Given the description of an element on the screen output the (x, y) to click on. 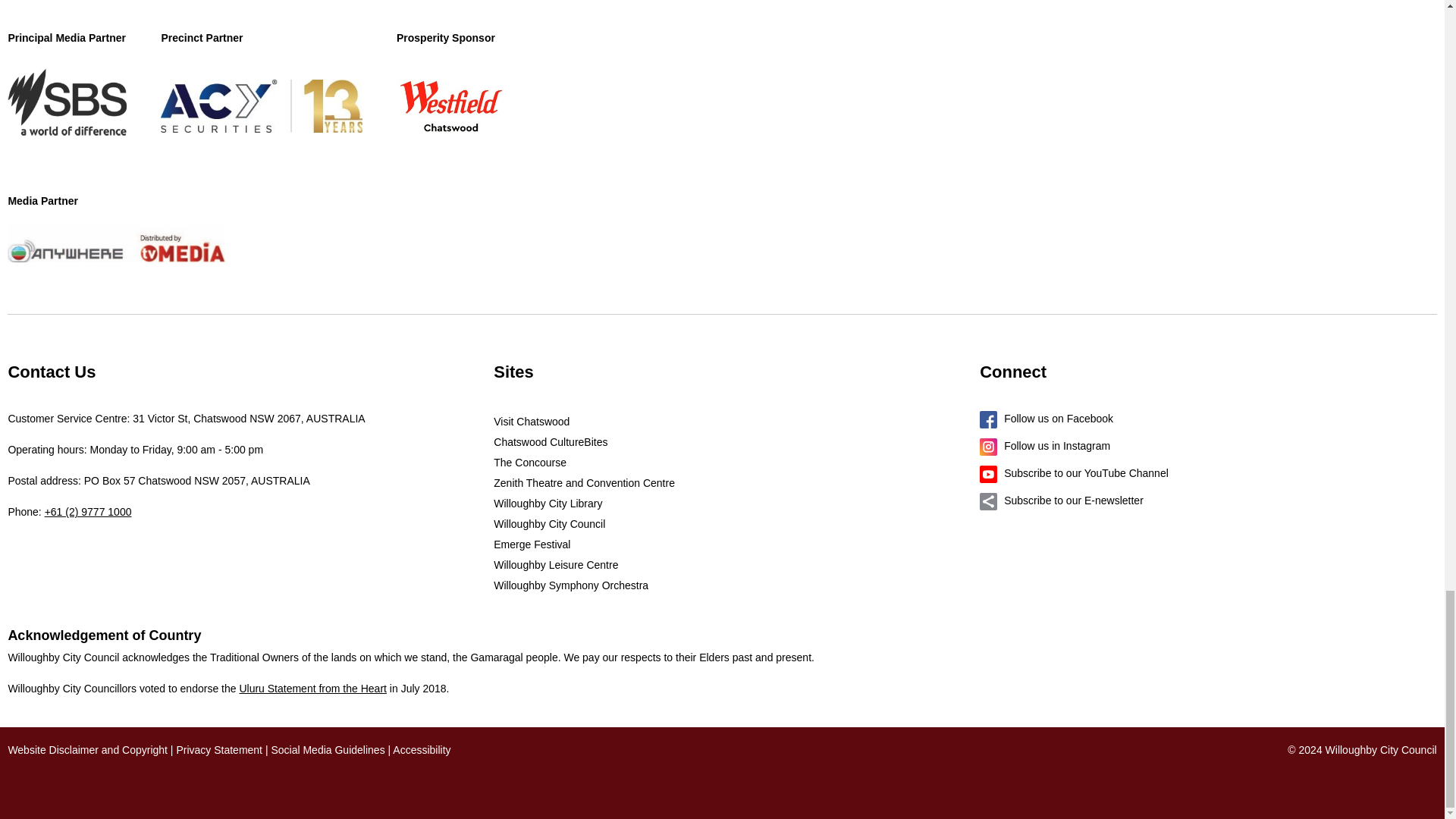
TVB Anywhere - TV Media  (116, 243)
ACY Securities (261, 106)
Westfield Chatswood (450, 106)
SBS (66, 106)
